Given the description of an element on the screen output the (x, y) to click on. 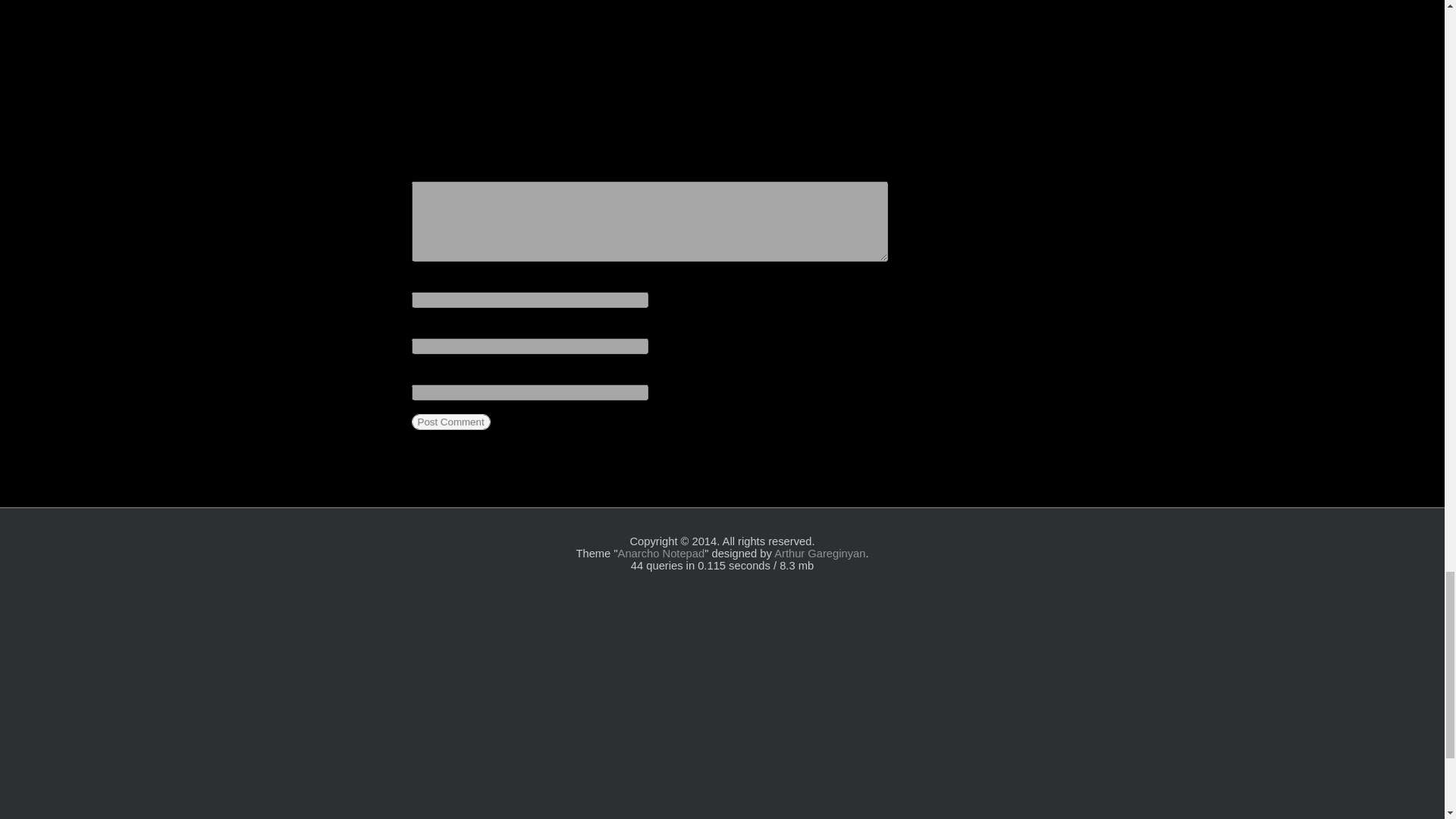
Anarcho Notepad (660, 553)
Practicum Reflection: Week 8 (805, 68)
Theme page (660, 553)
Learning (814, 35)
B. Ed. (701, 35)
Post Comment (449, 421)
Post Comment (449, 421)
Teaching (870, 35)
Arthur Gareginyan (819, 553)
Education (754, 35)
Theme author (819, 553)
